Given the description of an element on the screen output the (x, y) to click on. 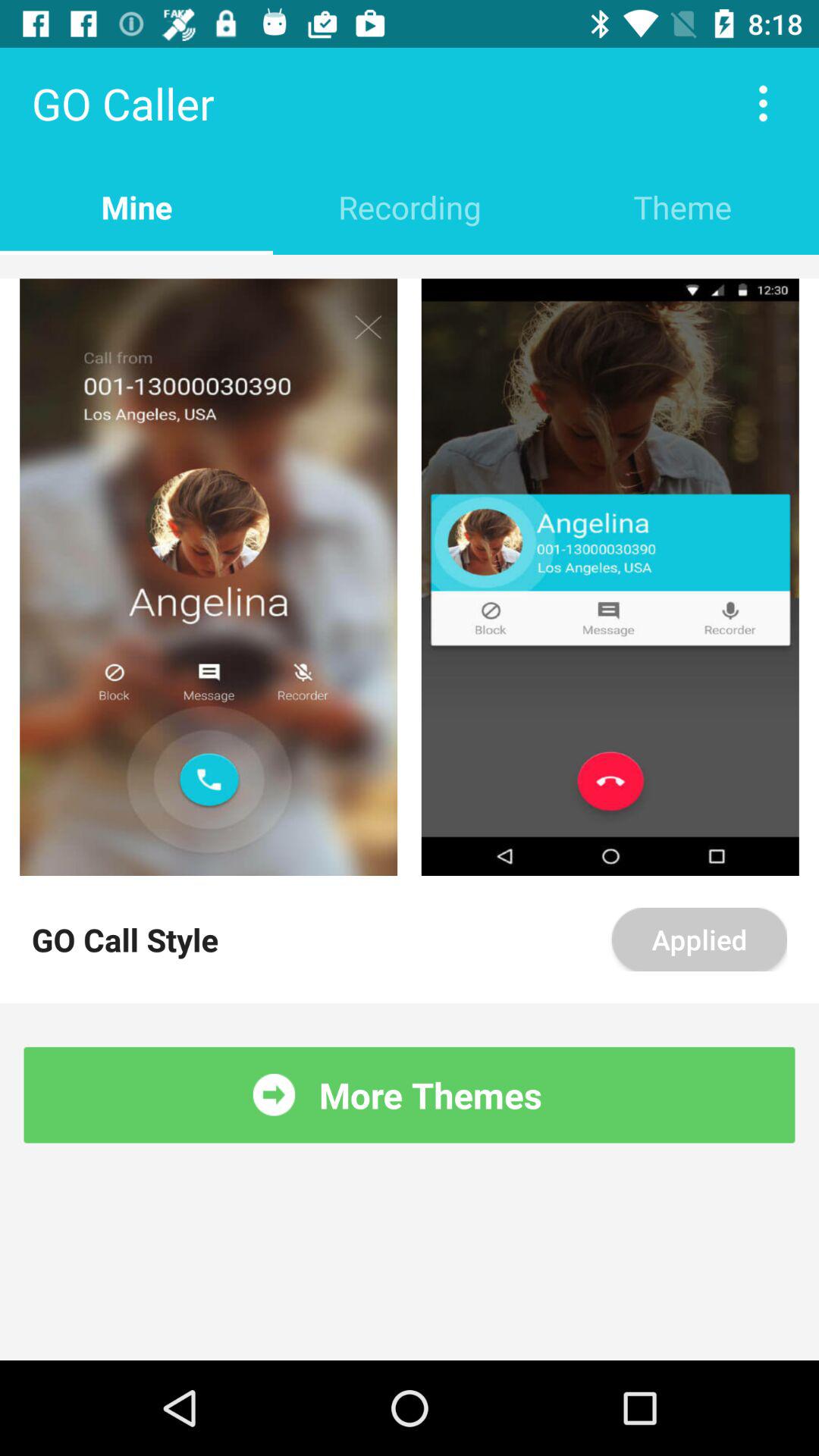
open menu (763, 103)
